Given the description of an element on the screen output the (x, y) to click on. 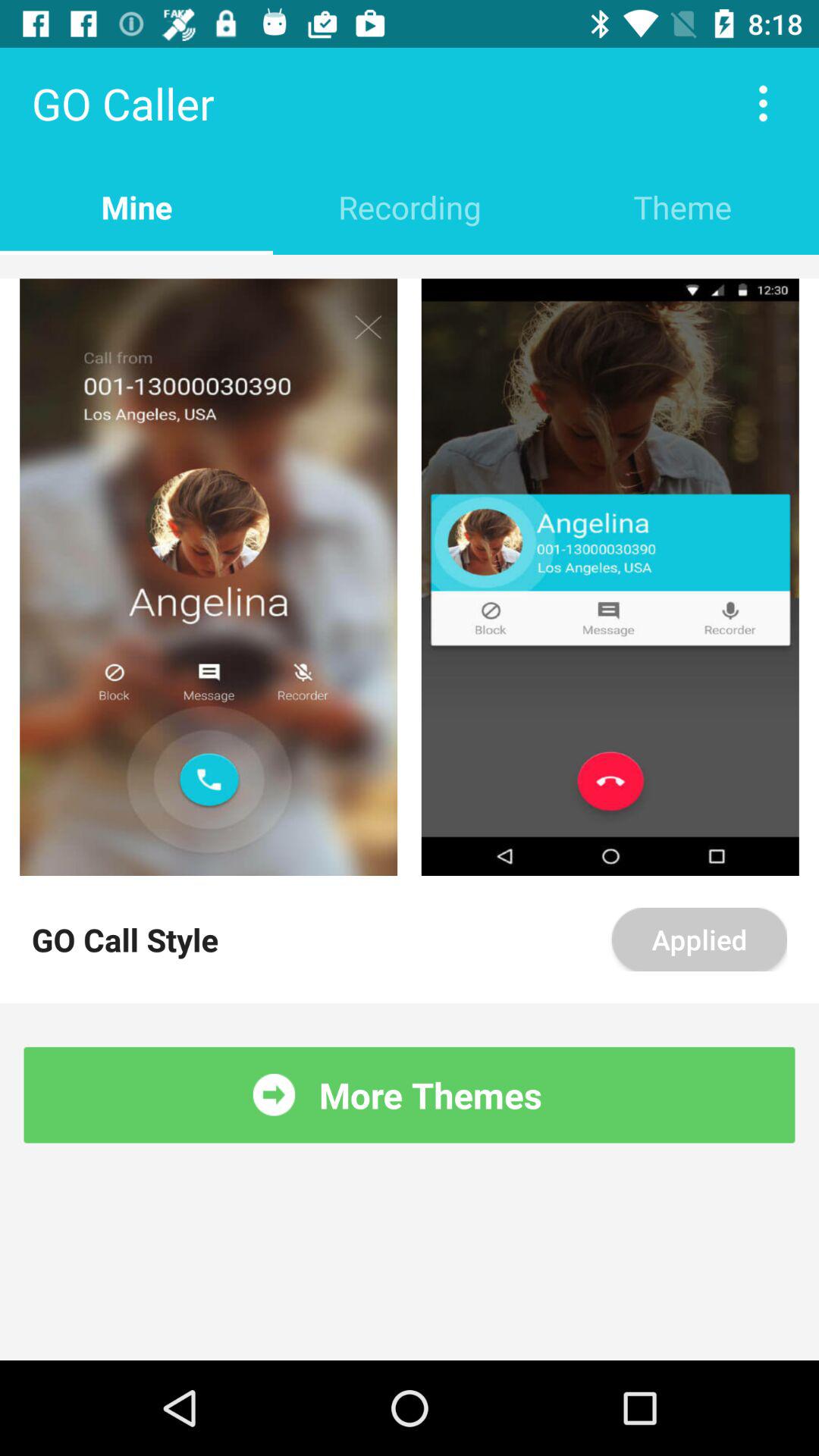
open menu (763, 103)
